Given the description of an element on the screen output the (x, y) to click on. 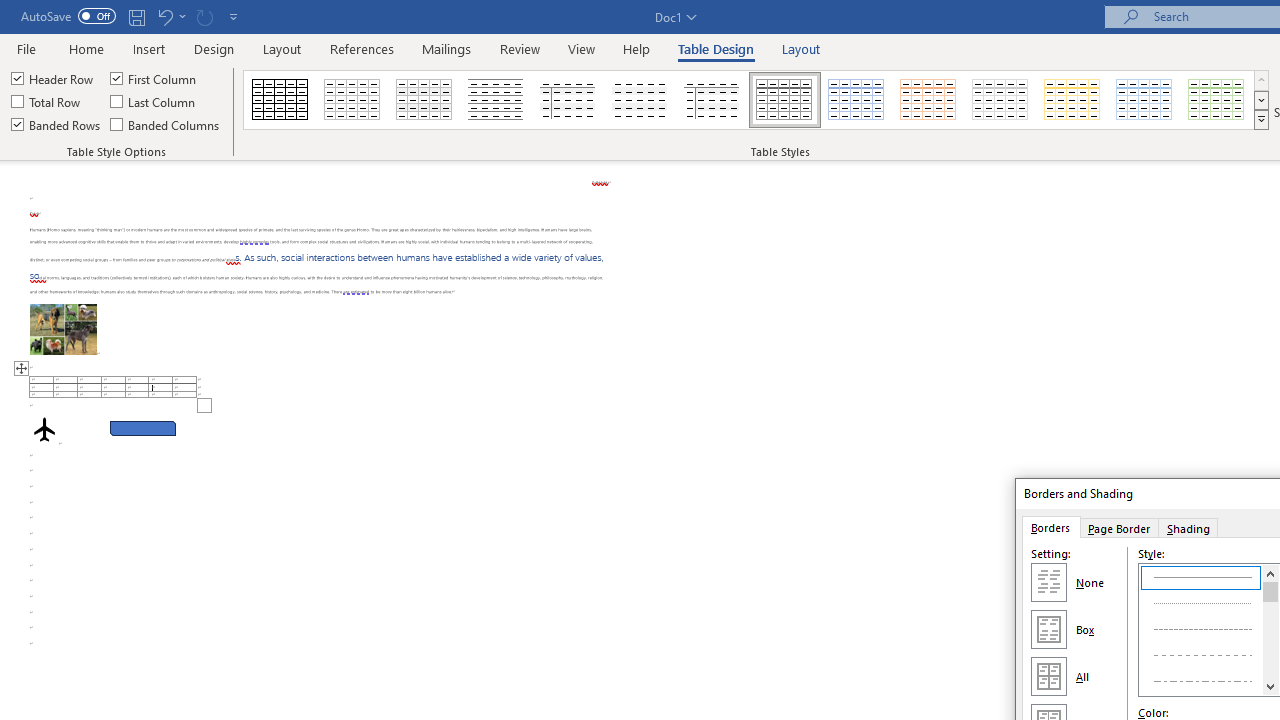
Home (86, 48)
